Given the description of an element on the screen output the (x, y) to click on. 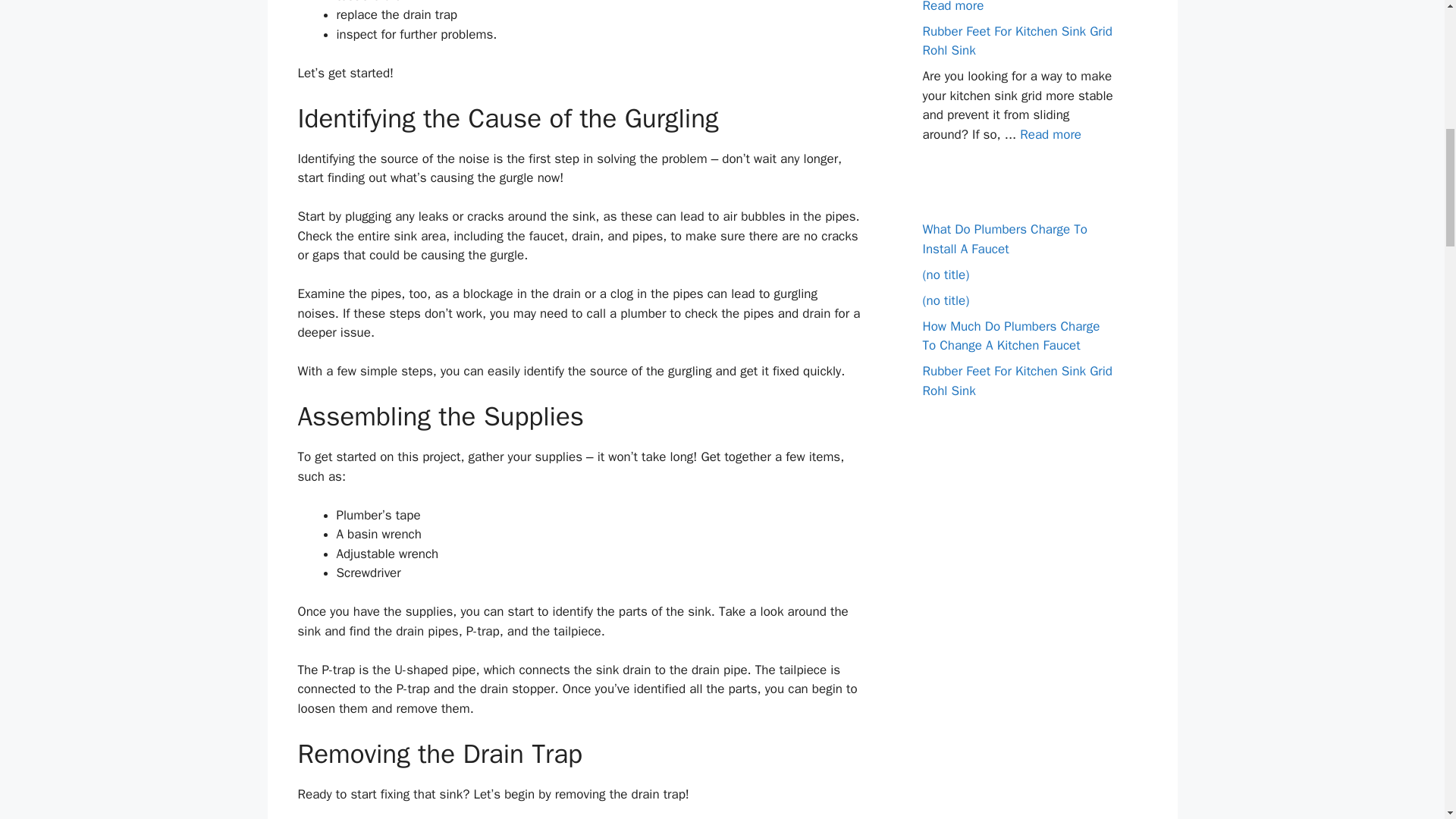
What Do Plumbers Charge To Install A Faucet (1003, 239)
Read more (1050, 133)
Rubber Feet For Kitchen Sink Grid Rohl Sink (1016, 40)
Read more (952, 6)
